Given the description of an element on the screen output the (x, y) to click on. 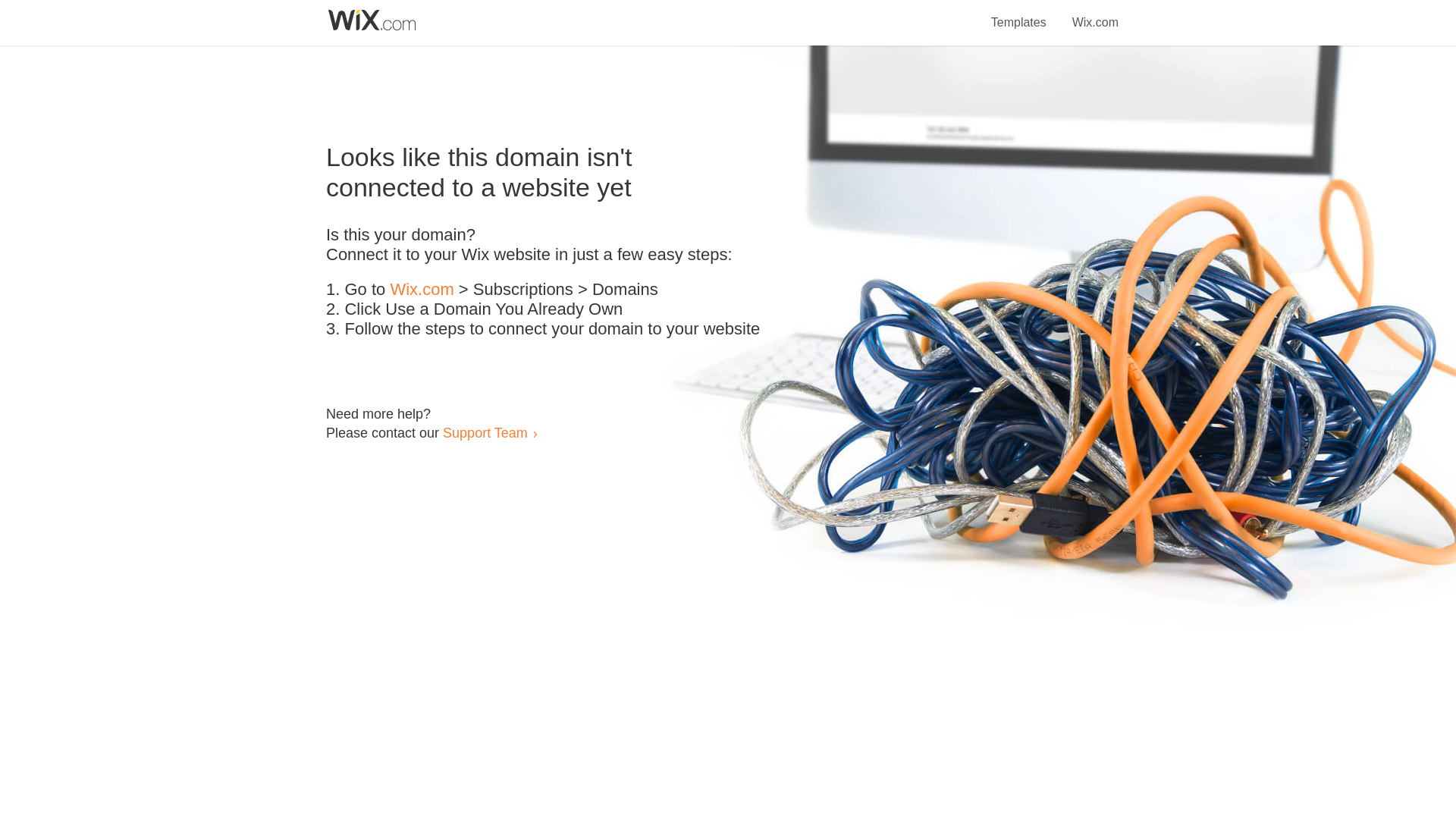
Wix.com (1095, 14)
Templates (1018, 14)
Support Team (484, 432)
Wix.com (421, 289)
